Given the description of an element on the screen output the (x, y) to click on. 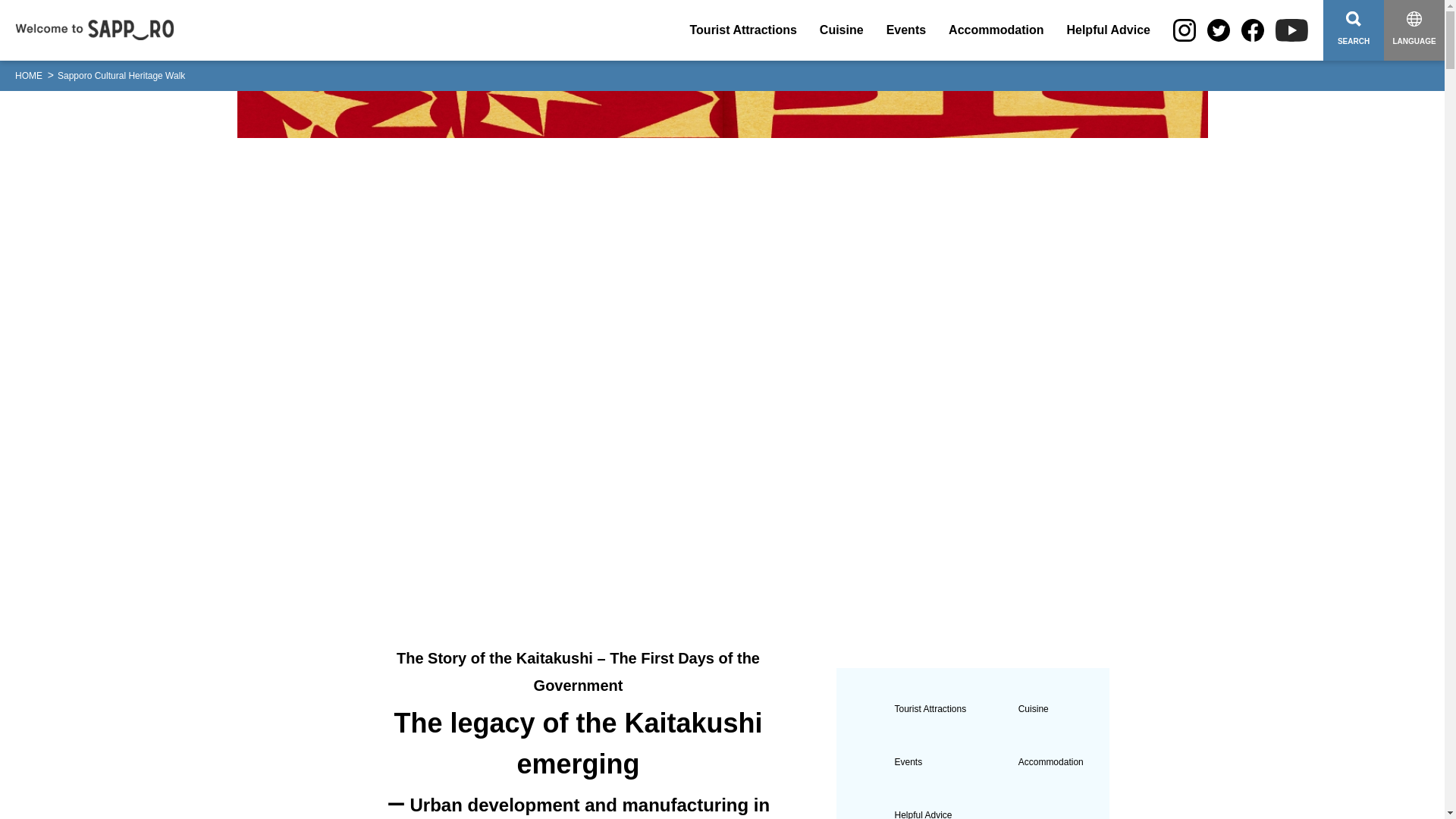
SEARCH (1353, 30)
Tourist Attractions (743, 30)
Accommodation (996, 30)
HOME (28, 75)
Helpful Advice (1107, 30)
